Given the description of an element on the screen output the (x, y) to click on. 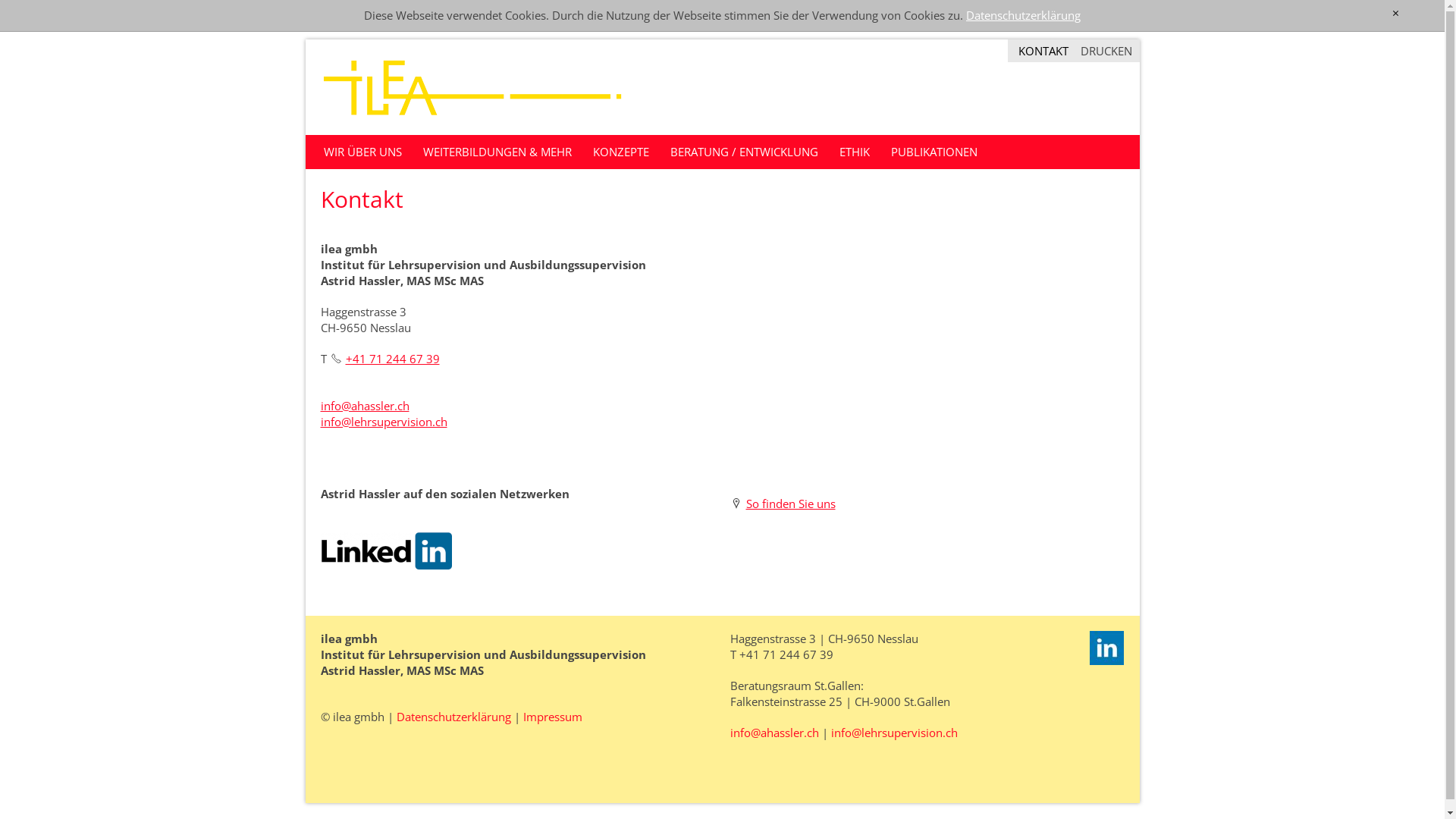
BERATUNG / ENTWICKLUNG Element type: text (743, 151)
[x] Element type: text (1395, 12)
info@lehrsupervision.ch Element type: text (383, 421)
So finden Sie uns Element type: text (781, 503)
info@lehrsupervision.ch Element type: text (894, 732)
info@ahassler.ch Element type: text (773, 732)
DRUCKEN Element type: text (1105, 50)
Zur Startseite Element type: hover (471, 86)
KONTAKT Element type: text (1042, 50)
info@ahassler.ch Element type: text (364, 404)
PUBLIKATIONEN Element type: text (933, 151)
Astrid Hassler auf LinkedIn Element type: hover (1106, 647)
WEITERBILDUNGEN & MEHR Element type: text (497, 151)
KONZEPTE Element type: text (620, 151)
Astrid Hassler auf LinkedIn Element type: hover (385, 550)
ETHIK Element type: text (853, 151)
Impressum Element type: text (552, 715)
+41 71 244 67 39 Element type: text (384, 357)
